Given the description of an element on the screen output the (x, y) to click on. 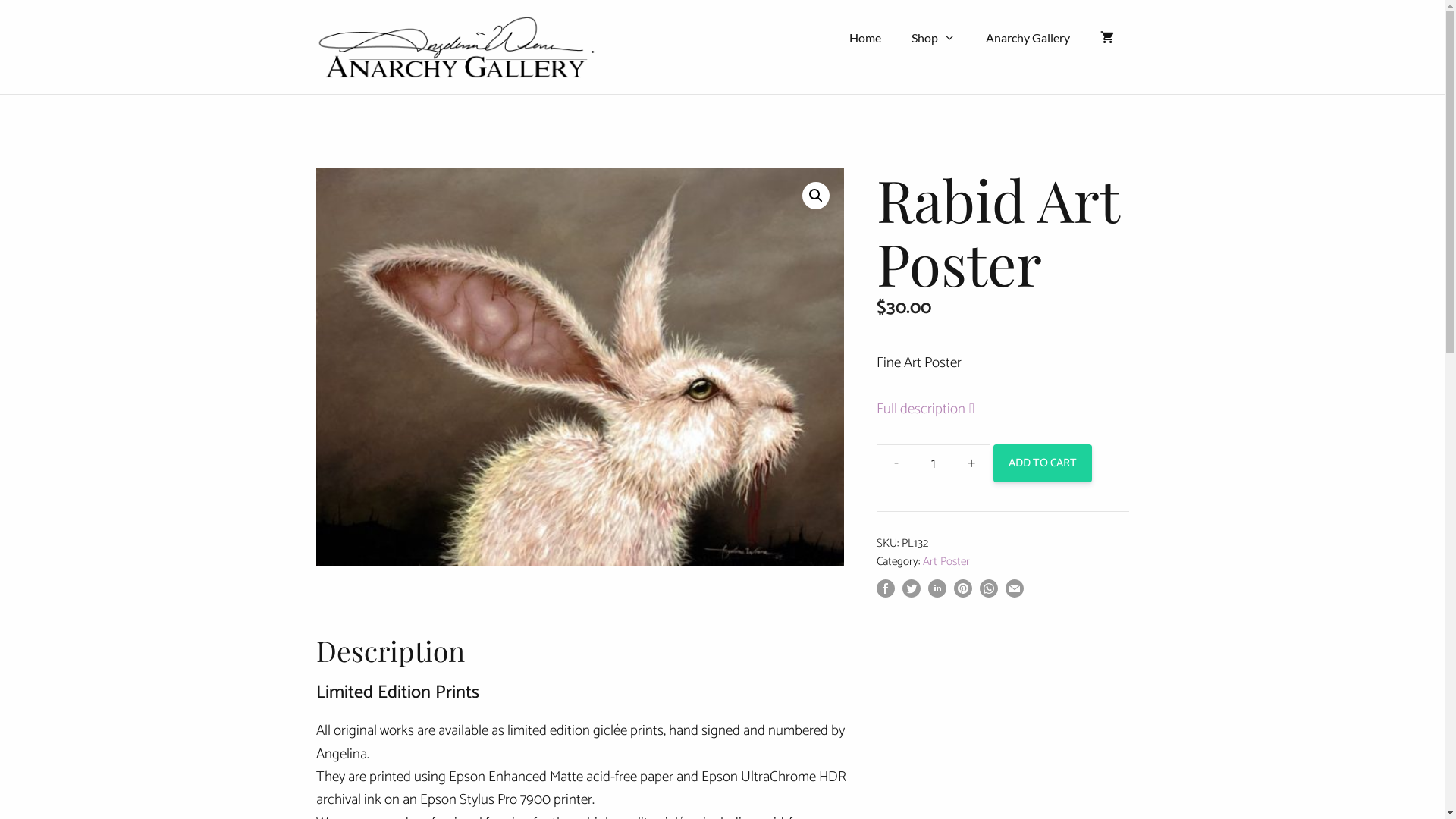
Share this post! Element type: hover (988, 593)
Share this post! Element type: hover (885, 593)
Tweet this post! Element type: hover (911, 593)
Full description Element type: text (940, 408)
+ Element type: text (971, 463)
Rabid-670W-4.jpg Element type: hover (579, 366)
Shop Element type: text (933, 37)
ADD TO CART Element type: text (1042, 463)
Art Poster Element type: text (945, 561)
- Element type: text (895, 463)
Pin this post! Element type: hover (962, 593)
Email this post! Element type: hover (1014, 593)
View your shopping cart Element type: hover (1106, 37)
Home Element type: text (865, 37)
Anarchy Gallery Element type: text (1027, 37)
Share this post! Element type: hover (937, 593)
